Given the description of an element on the screen output the (x, y) to click on. 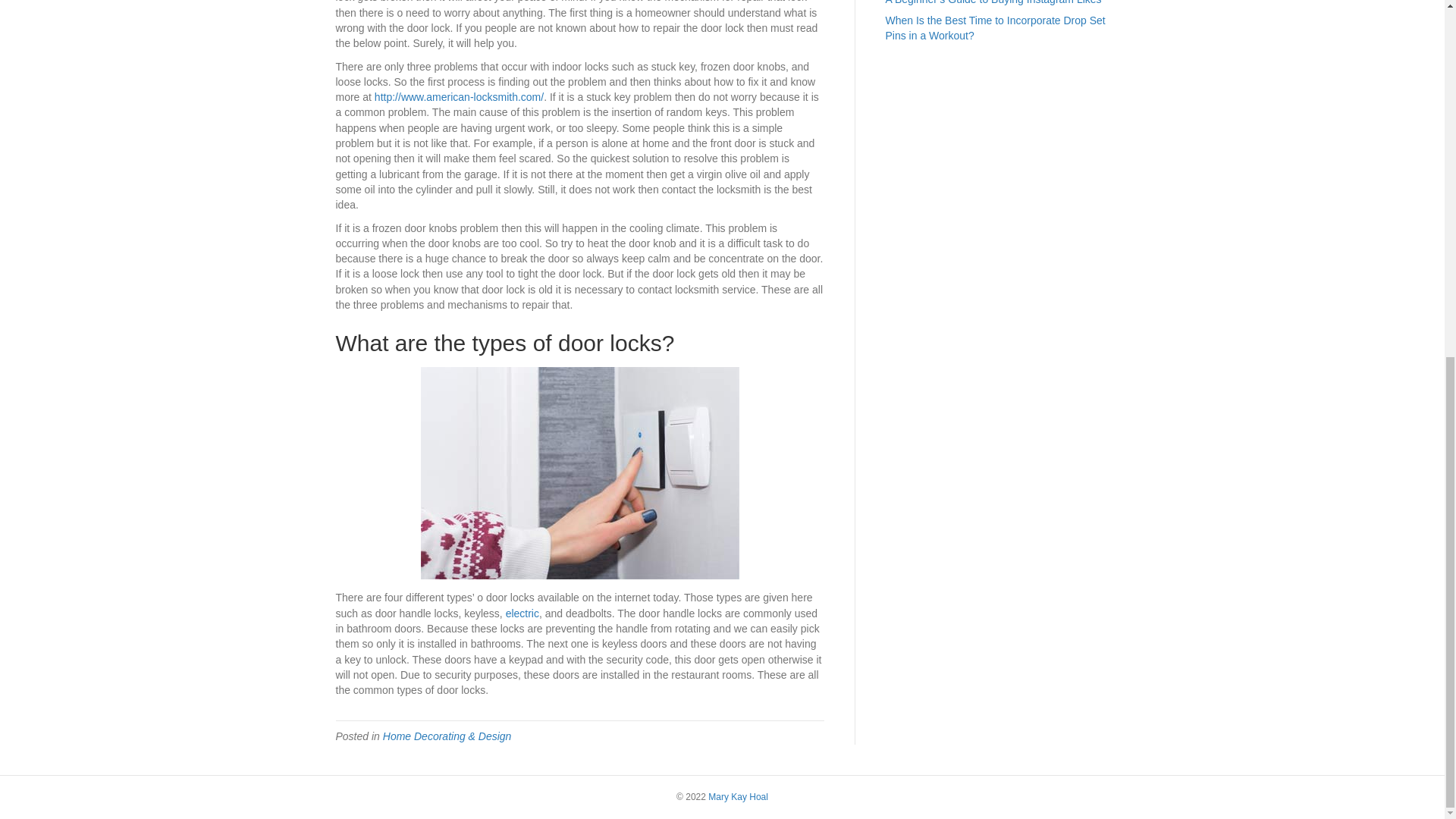
Mary Kay Hoal (737, 796)
electric (521, 613)
